Given the description of an element on the screen output the (x, y) to click on. 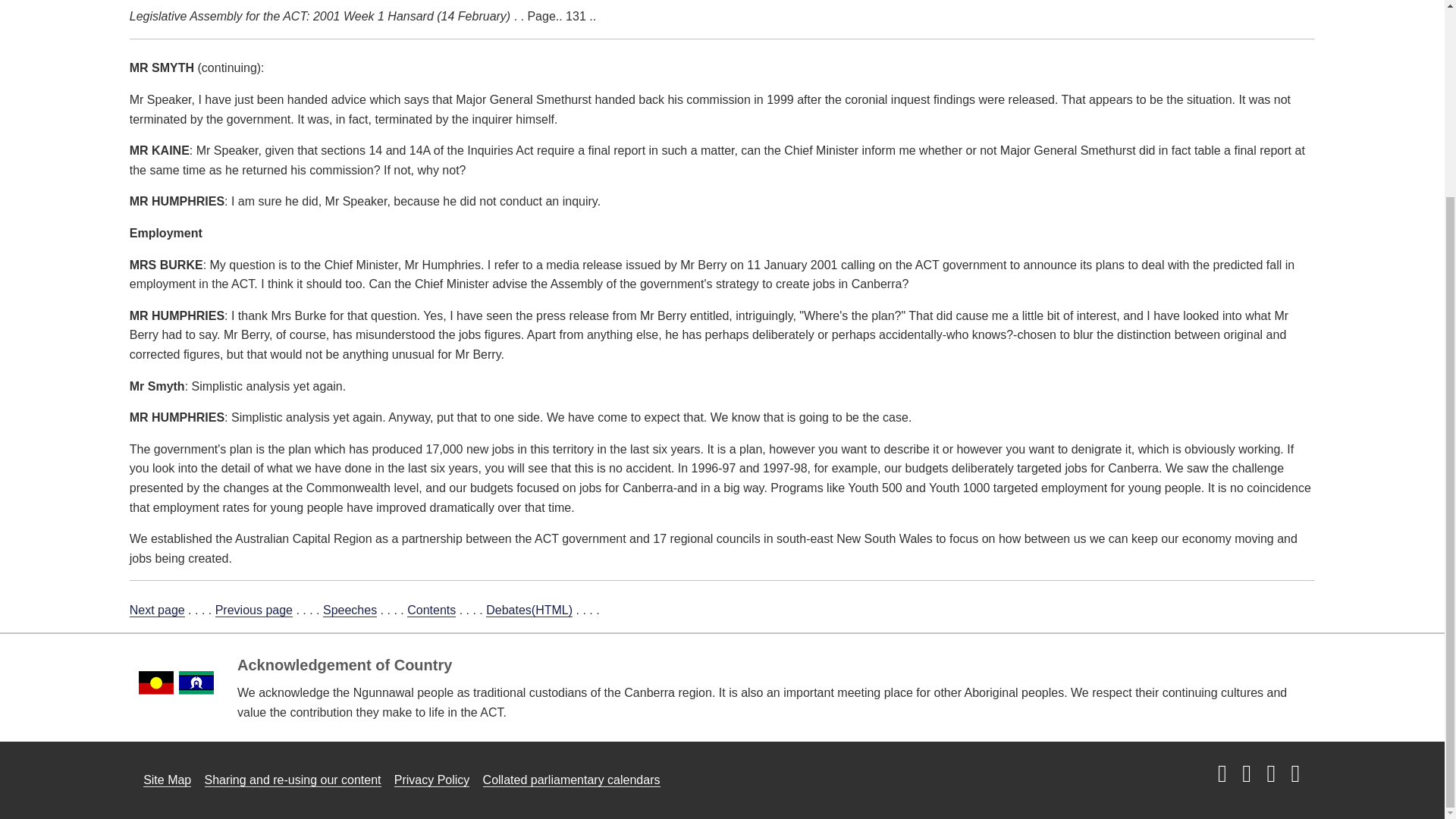
Collated parliamentary calendars (572, 780)
Collated parliamentary calendars (572, 780)
Site Map (166, 780)
Next page (156, 610)
Link to Sharing and re-using our content (293, 780)
Link to Site Map (166, 780)
Speeches (350, 610)
Privacy Policy (432, 780)
Sharing and re-using our content (293, 780)
Contents (431, 610)
